Given the description of an element on the screen output the (x, y) to click on. 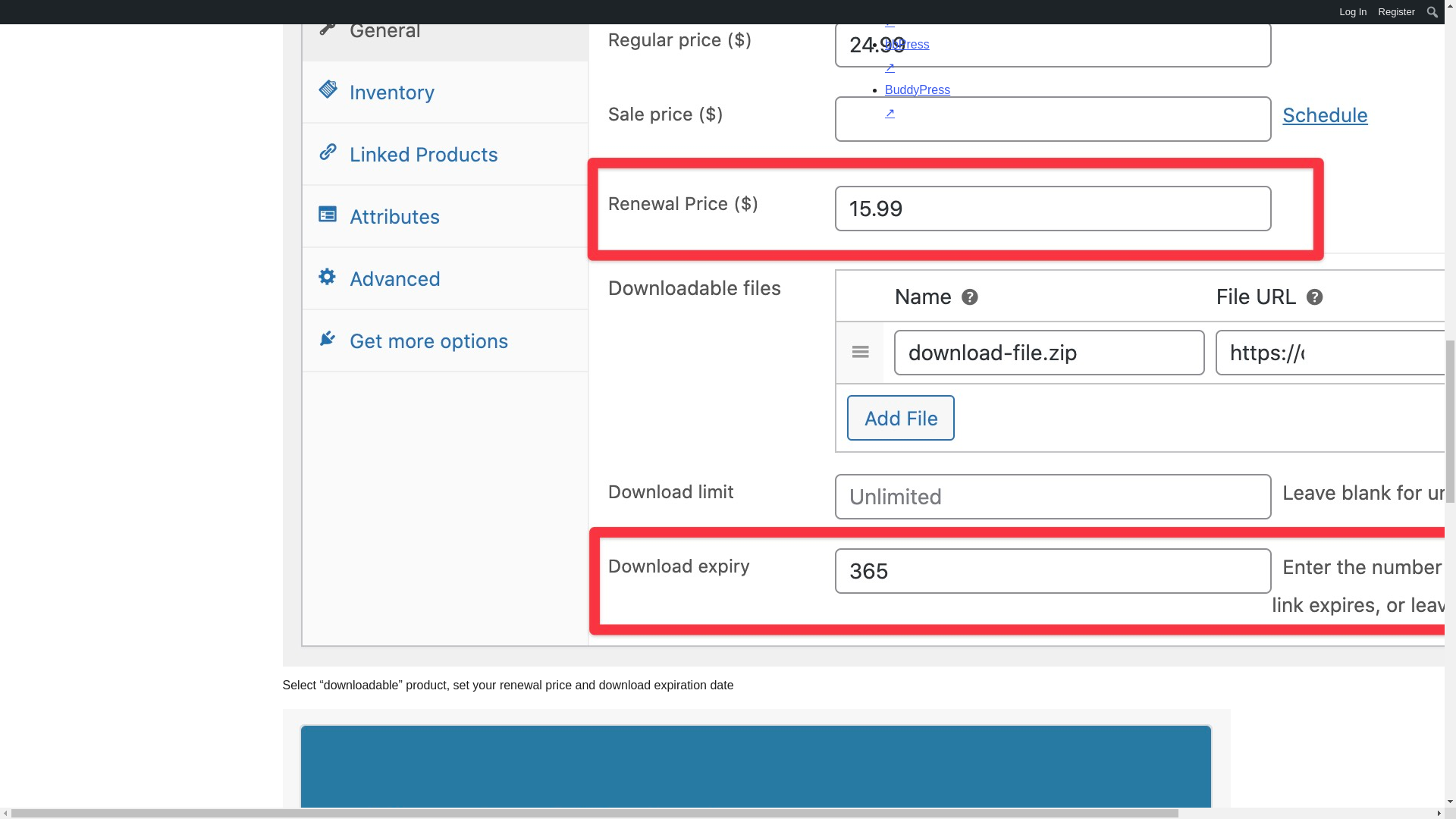
WordPress.org (1014, 143)
WordPress.org (864, 143)
